Given the description of an element on the screen output the (x, y) to click on. 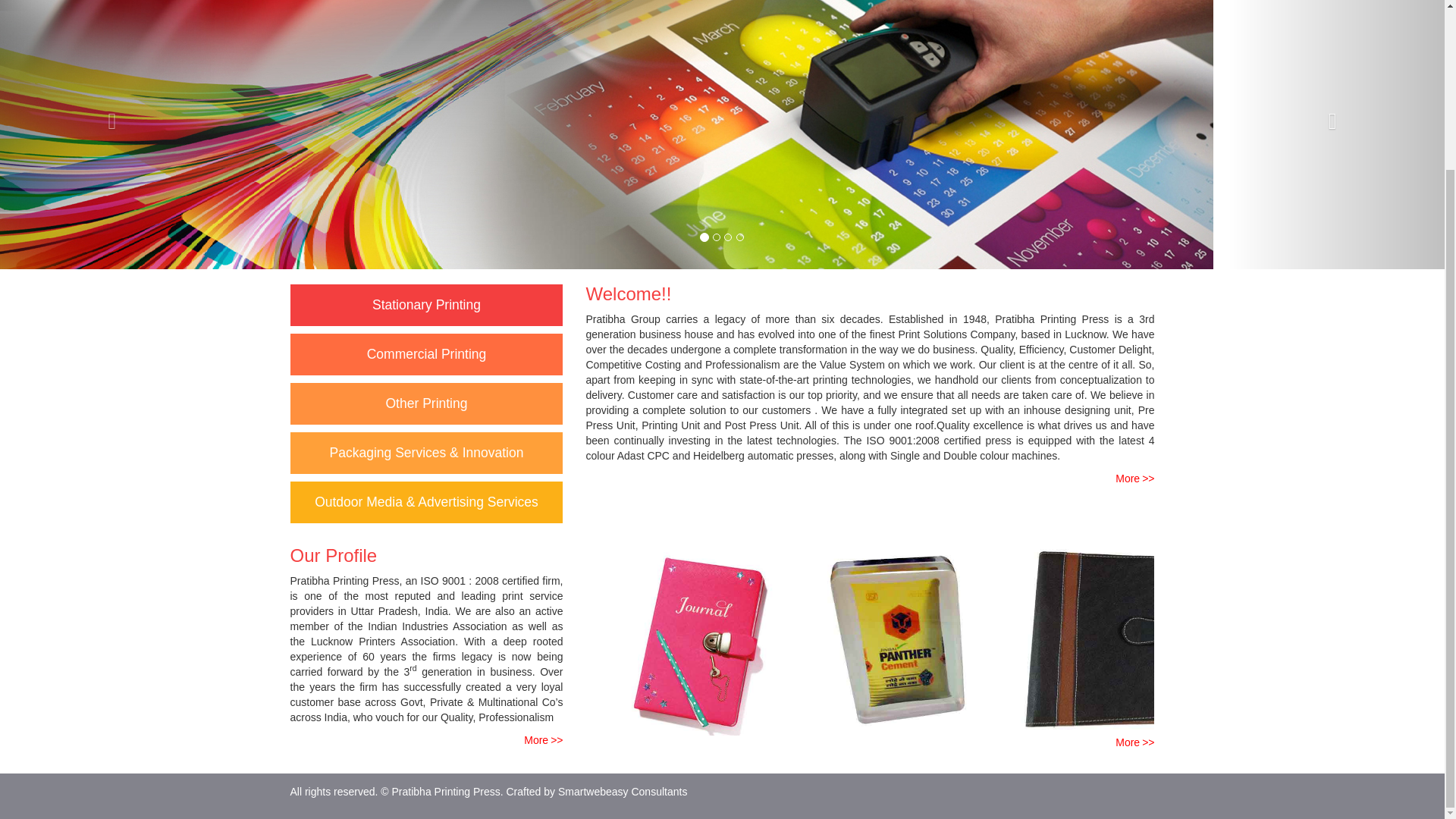
More (1134, 478)
Stationary Printing (426, 304)
Smartwebeasy Consultants (622, 791)
Commercial Printing (426, 353)
More (1134, 742)
Other Printing (426, 403)
More (543, 739)
